Given the description of an element on the screen output the (x, y) to click on. 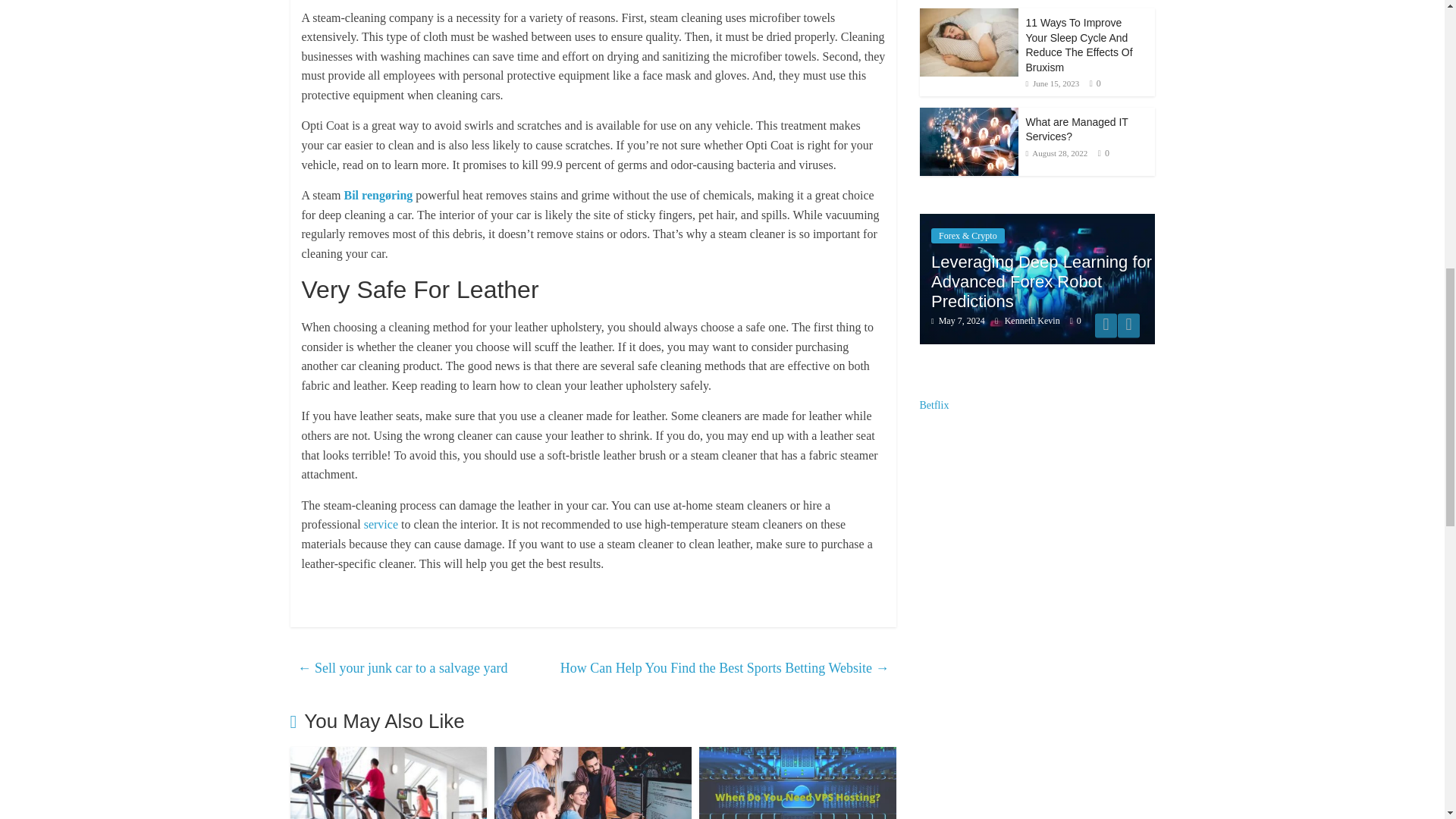
Where You Get MIS Gym Software? (387, 756)
Do Dedicated Software Development Firms See Growth? (593, 756)
service (380, 523)
